Given the description of an element on the screen output the (x, y) to click on. 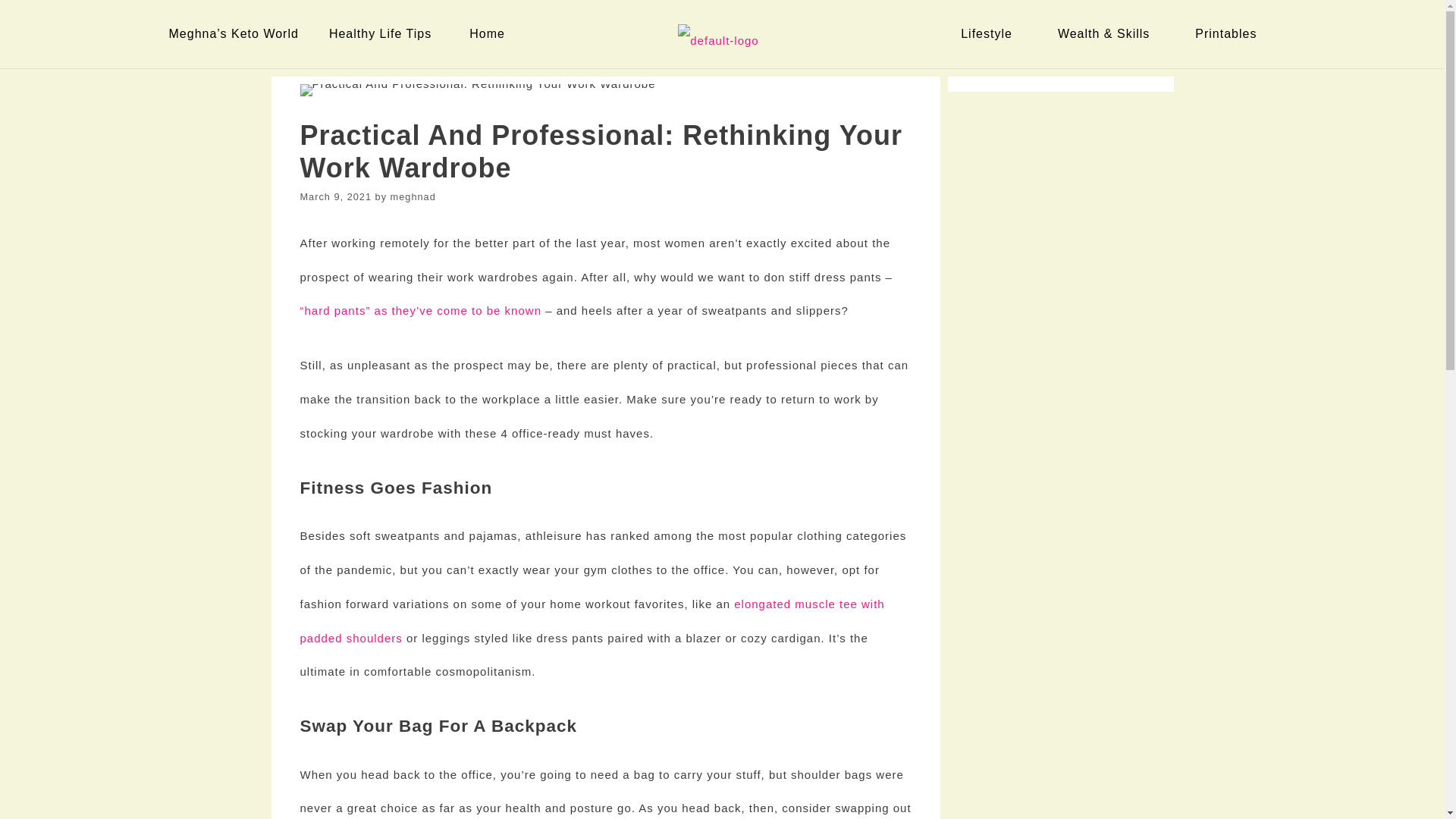
Healthy Life Tips (383, 33)
Home (490, 33)
View all posts by meghnad (412, 196)
Lifestyle (989, 33)
